Given the description of an element on the screen output the (x, y) to click on. 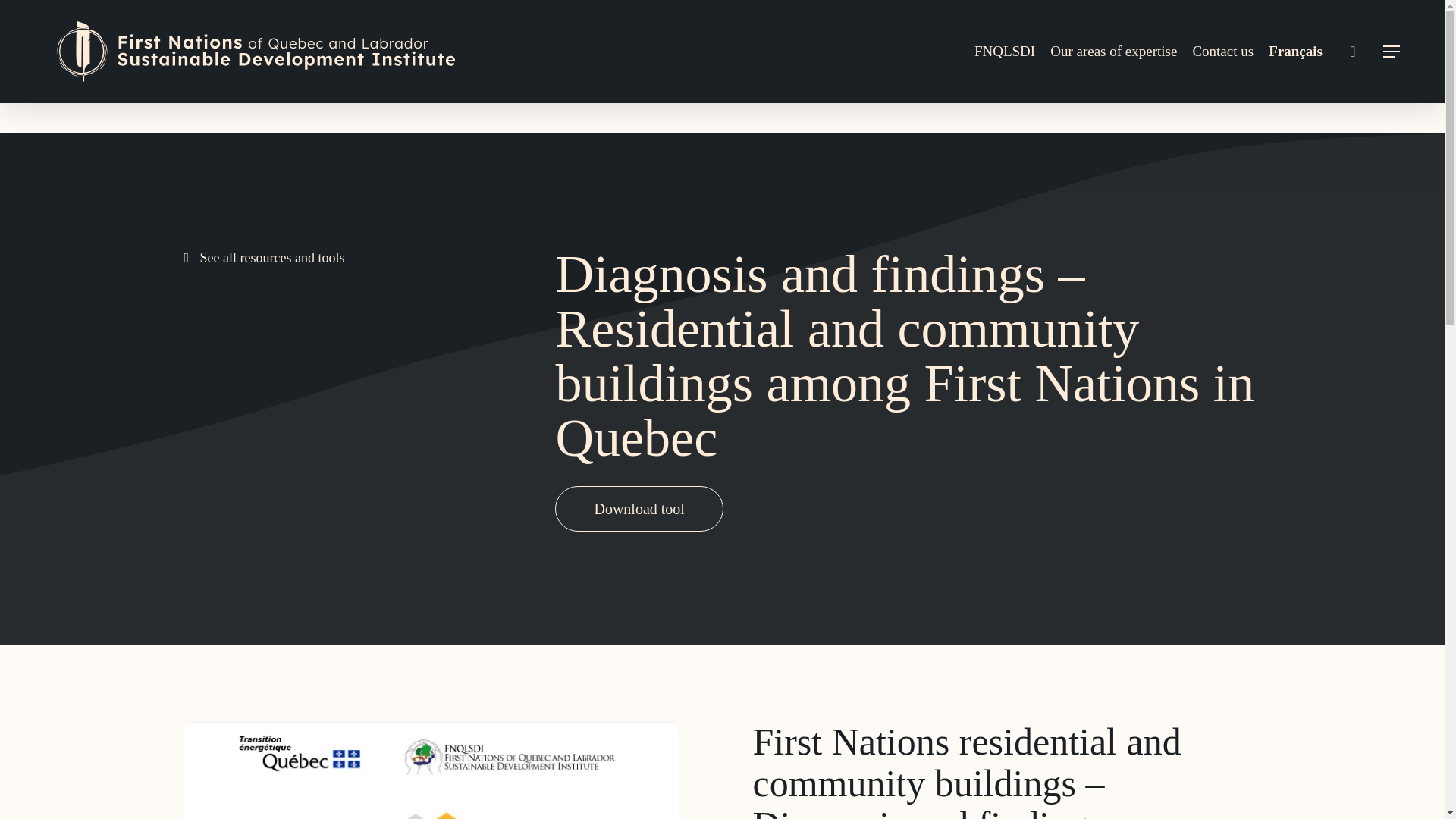
See all resources and tools (263, 257)
Contact us (1222, 51)
FNQLSDI (1004, 51)
Download tool (638, 508)
Menu (1391, 51)
search (1352, 51)
Our areas of expertise (1112, 51)
